Given the description of an element on the screen output the (x, y) to click on. 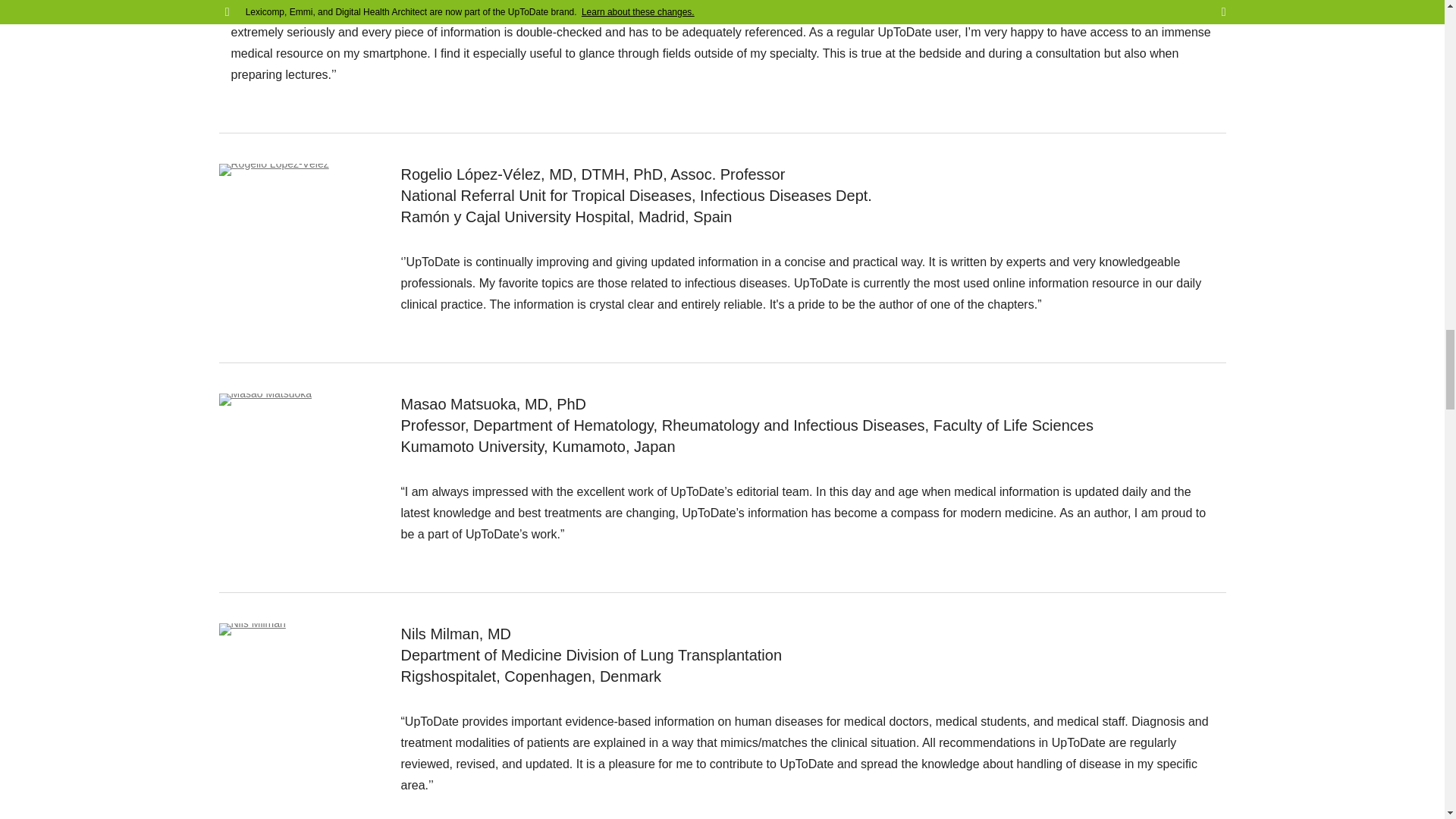
image-author-matsuoka (264, 399)
image-author-milman (251, 629)
image-author-lopez-velez (273, 169)
